Given the description of an element on the screen output the (x, y) to click on. 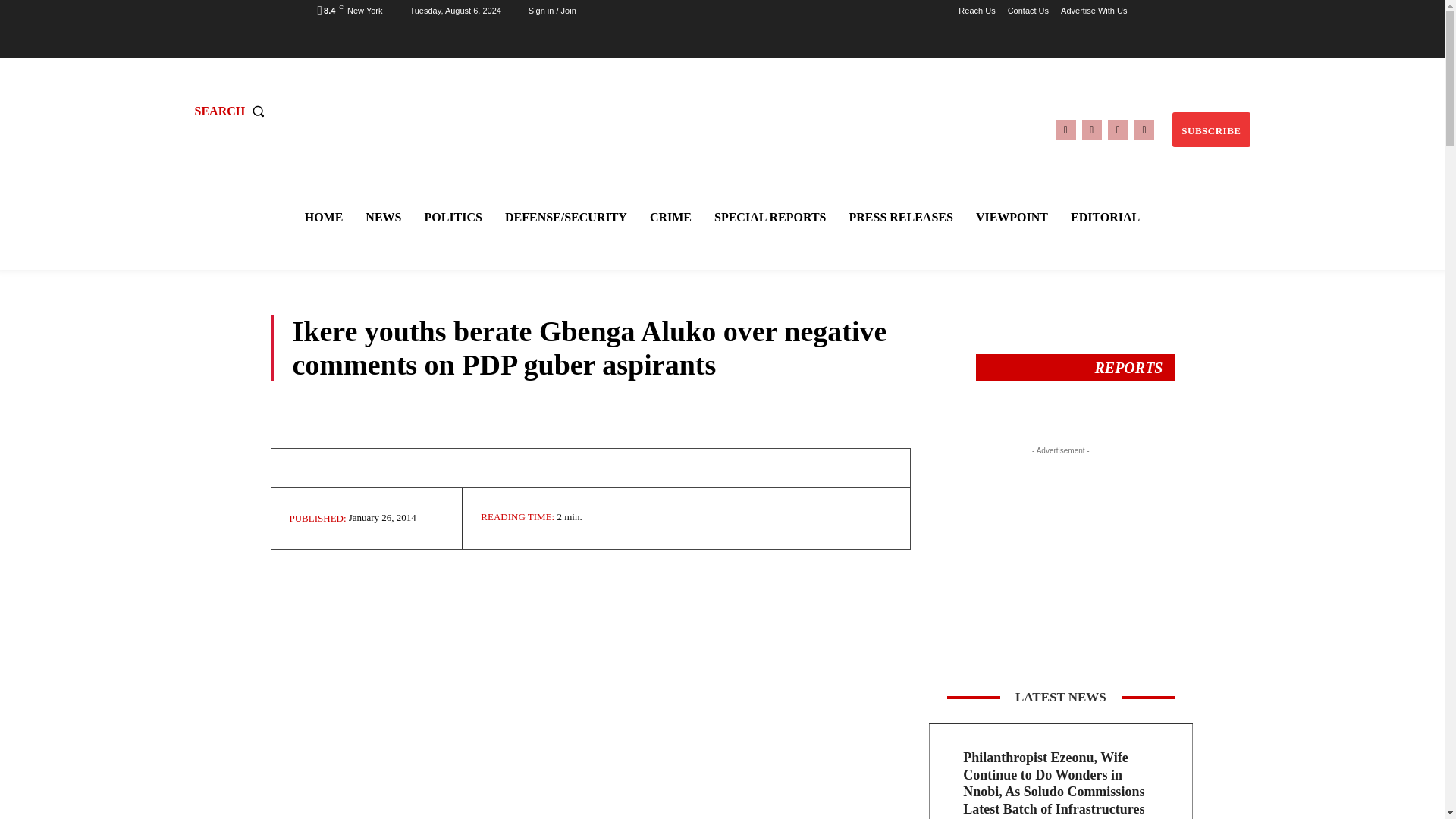
Impartial Observers (724, 109)
Reach Us (976, 10)
SEARCH (231, 111)
Youtube (1144, 129)
Instagram (1091, 129)
HOME (323, 217)
Subscribe (1210, 130)
Contact Us (1027, 10)
SUBSCRIBE (1210, 130)
Twitter (1118, 129)
NEWS (383, 217)
Advertise With Us (1093, 10)
Facebook (1065, 129)
View all posts in Reports (1127, 367)
